Given the description of an element on the screen output the (x, y) to click on. 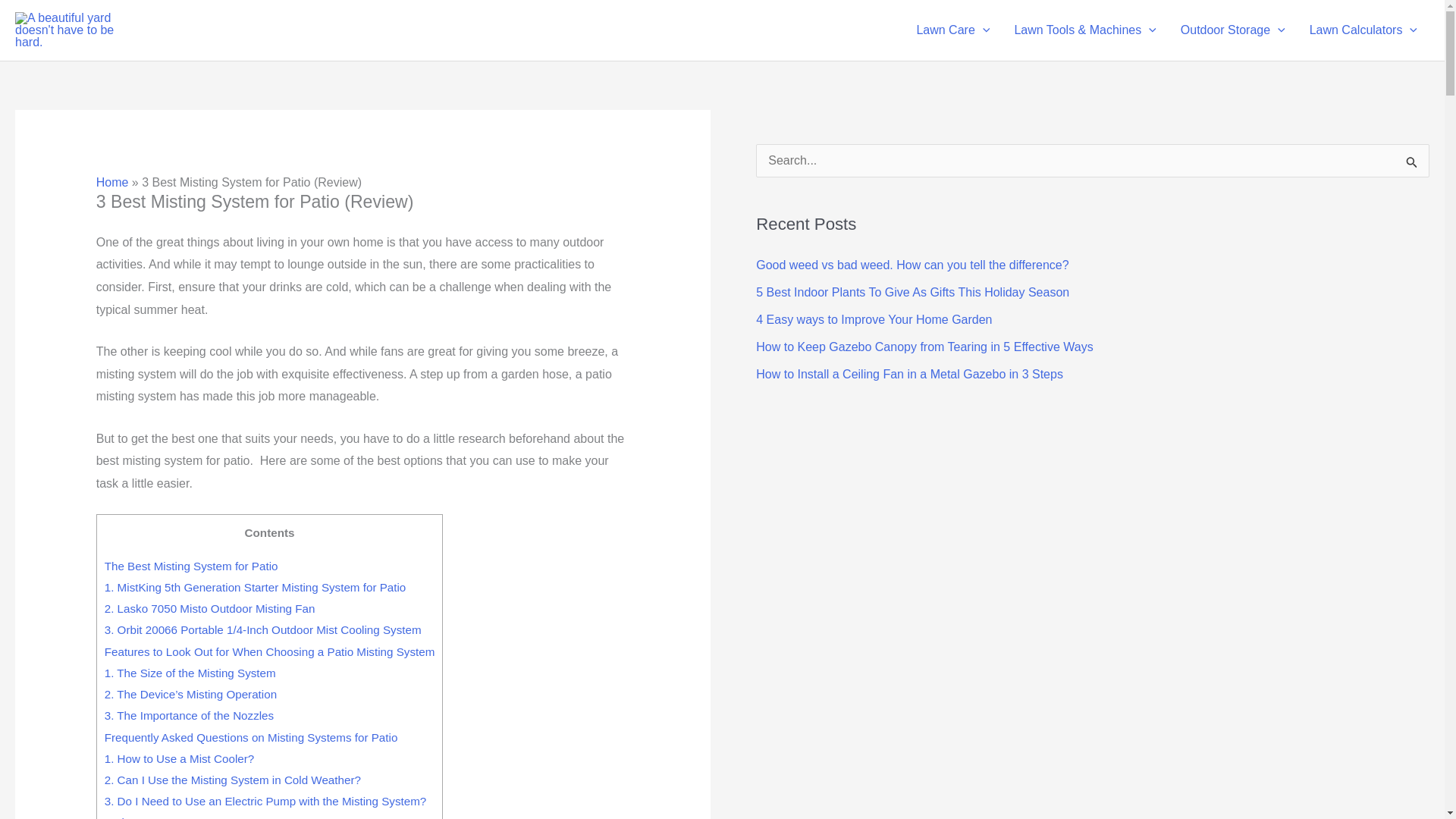
Lawn Care (952, 30)
Lawn Calculators (1363, 30)
Outdoor Storage (1233, 30)
